Given the description of an element on the screen output the (x, y) to click on. 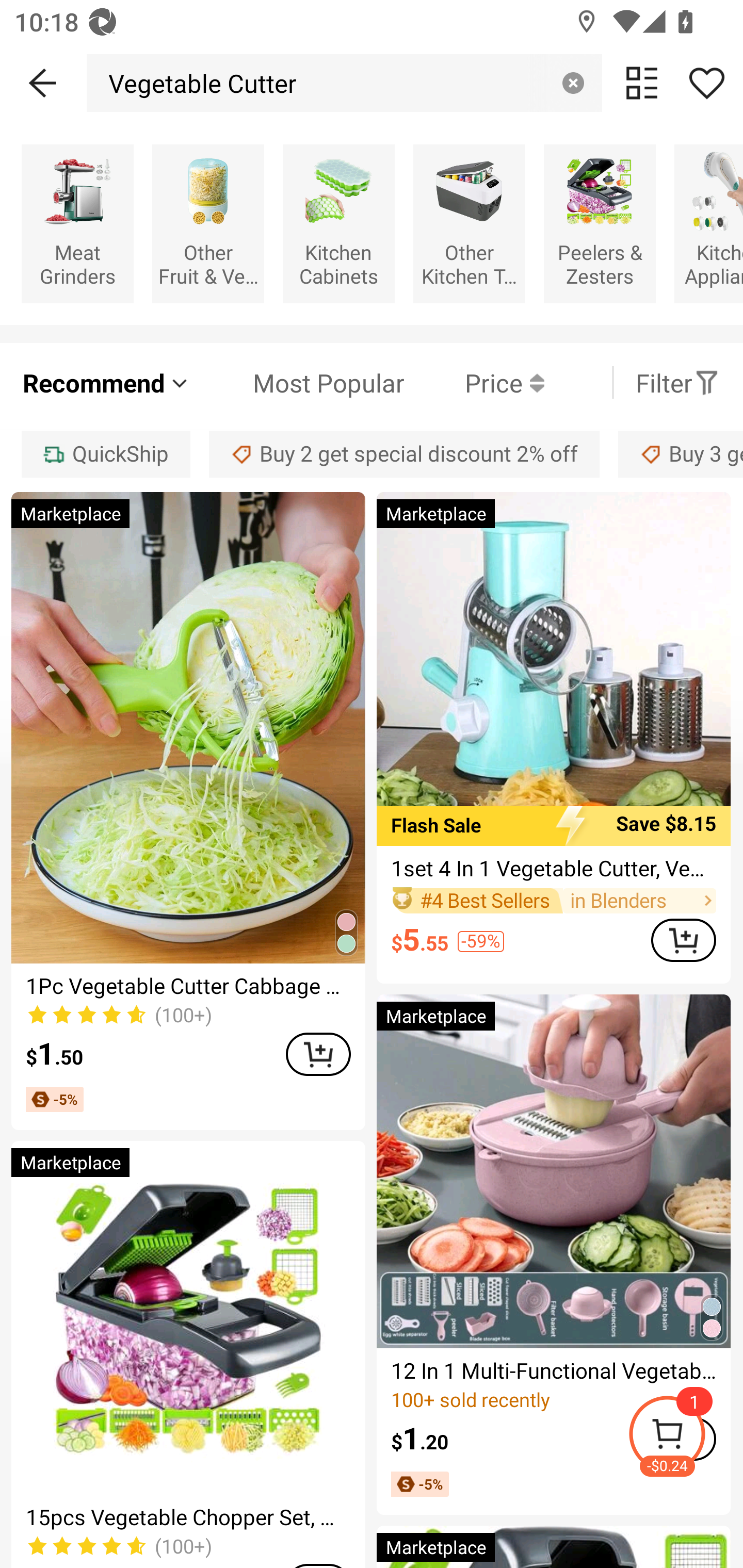
Vegetable Cutter (196, 82)
Clear (572, 82)
change view (641, 82)
Share (706, 82)
Meat Grinders (77, 223)
Other Fruit & Vegetable Tools (208, 223)
Kitchen Cabinets (338, 223)
Other Kitchen Tools (469, 223)
Peelers & Zesters (599, 223)
Kitchen Appliance Parts (708, 223)
Recommend (106, 382)
Most Popular (297, 382)
Price (474, 382)
Filter (677, 382)
QuickShip (105, 454)
Buy 2 get special discount 2% off (403, 454)
Buy 3 get special discount 1% off (680, 454)
#4 Best Sellers in Blenders (553, 900)
ADD TO CART (683, 939)
ADD TO CART (318, 1054)
-$0.24 (685, 1436)
